Given the description of an element on the screen output the (x, y) to click on. 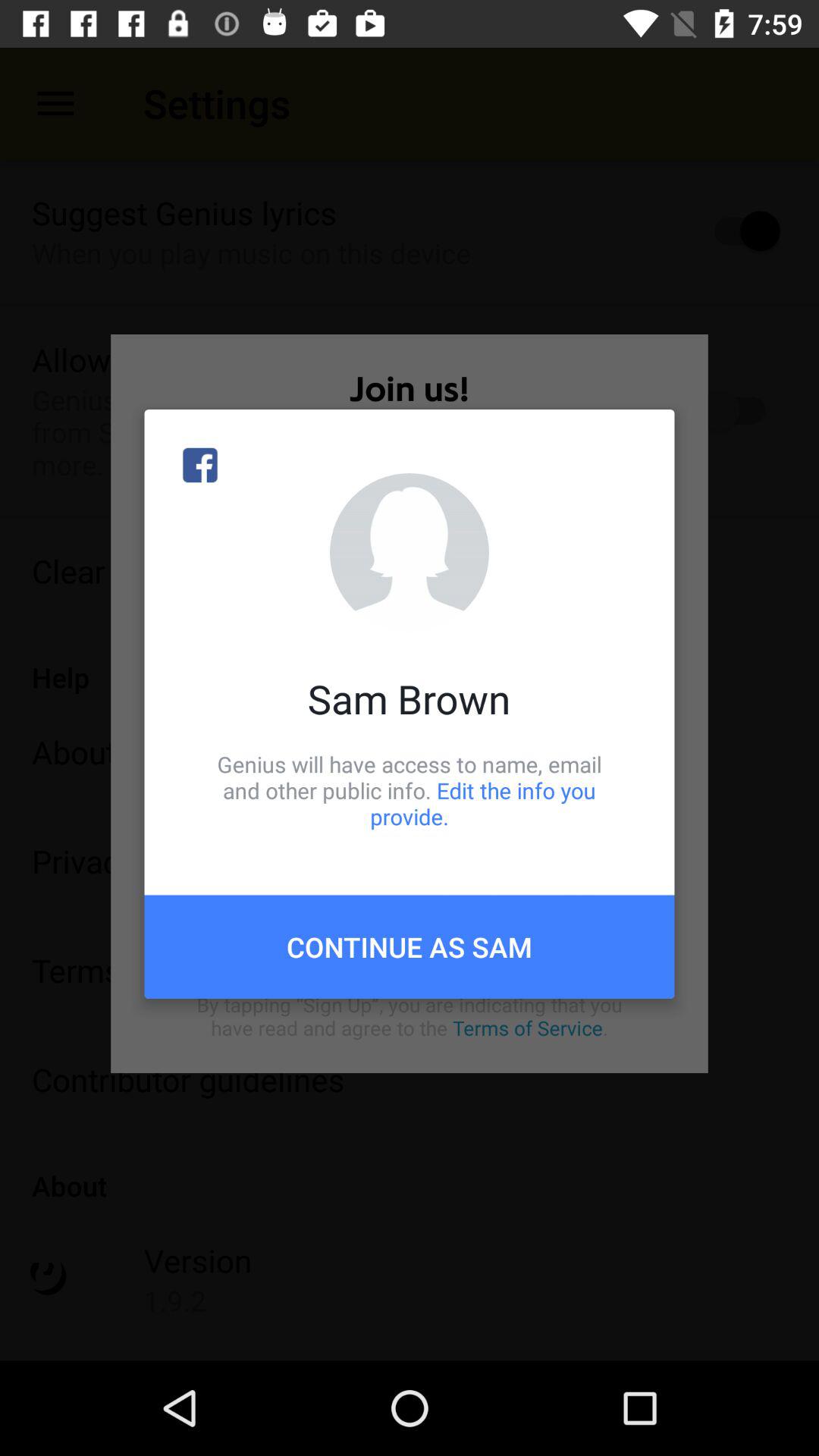
click continue as sam icon (409, 946)
